Given the description of an element on the screen output the (x, y) to click on. 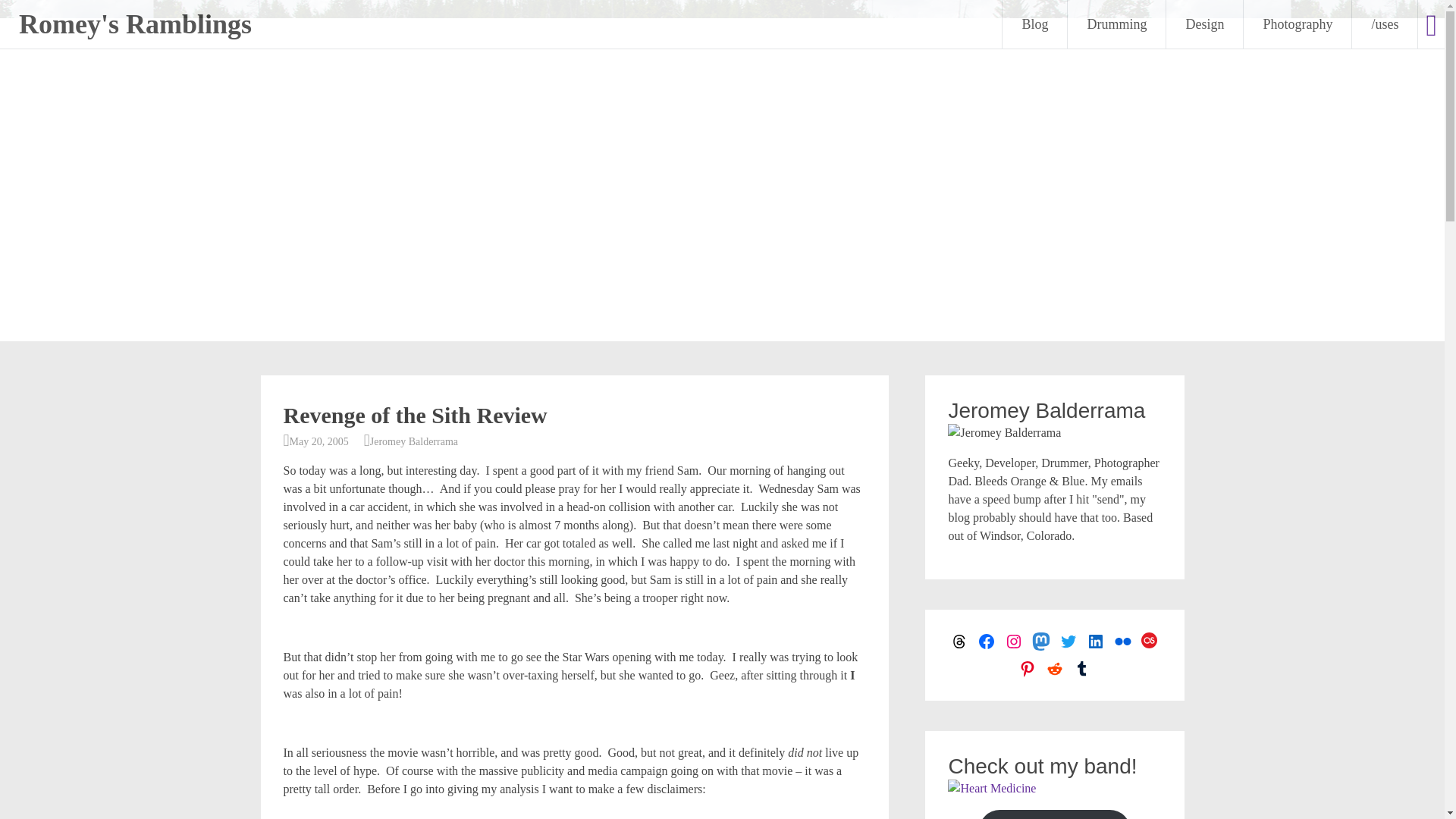
Last.fm (1149, 641)
Photography (1297, 24)
LinkedIn (1095, 641)
Blog (1035, 24)
Threads (959, 641)
Tumblr (1081, 669)
Pinterest (1026, 669)
Uses (1384, 24)
Facebook (985, 641)
Design (1204, 24)
